Given the description of an element on the screen output the (x, y) to click on. 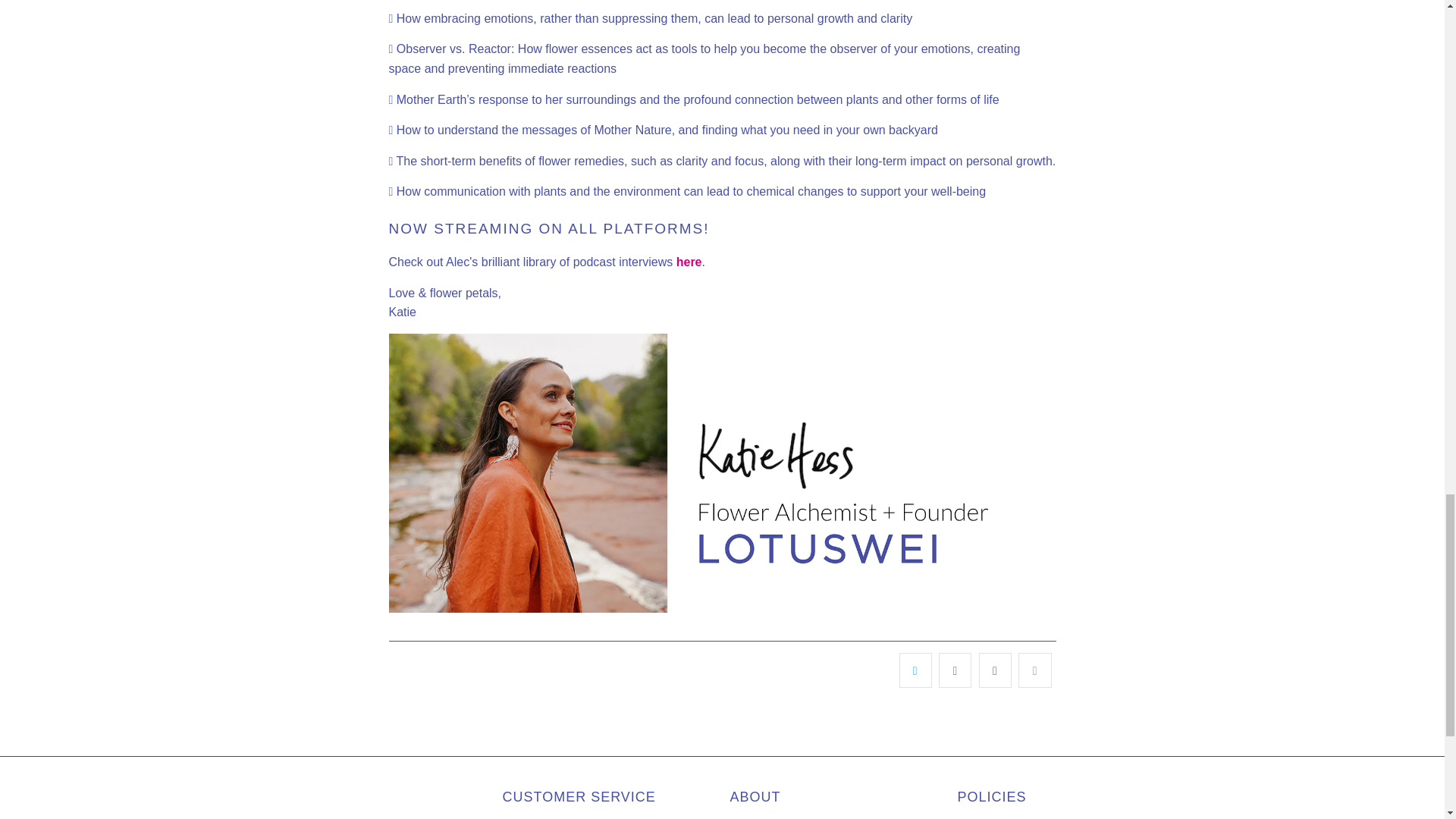
Share this on Facebook (955, 669)
Share this on Pinterest (994, 669)
Email this to a friend (1034, 669)
Share this on Twitter (915, 669)
